Given the description of an element on the screen output the (x, y) to click on. 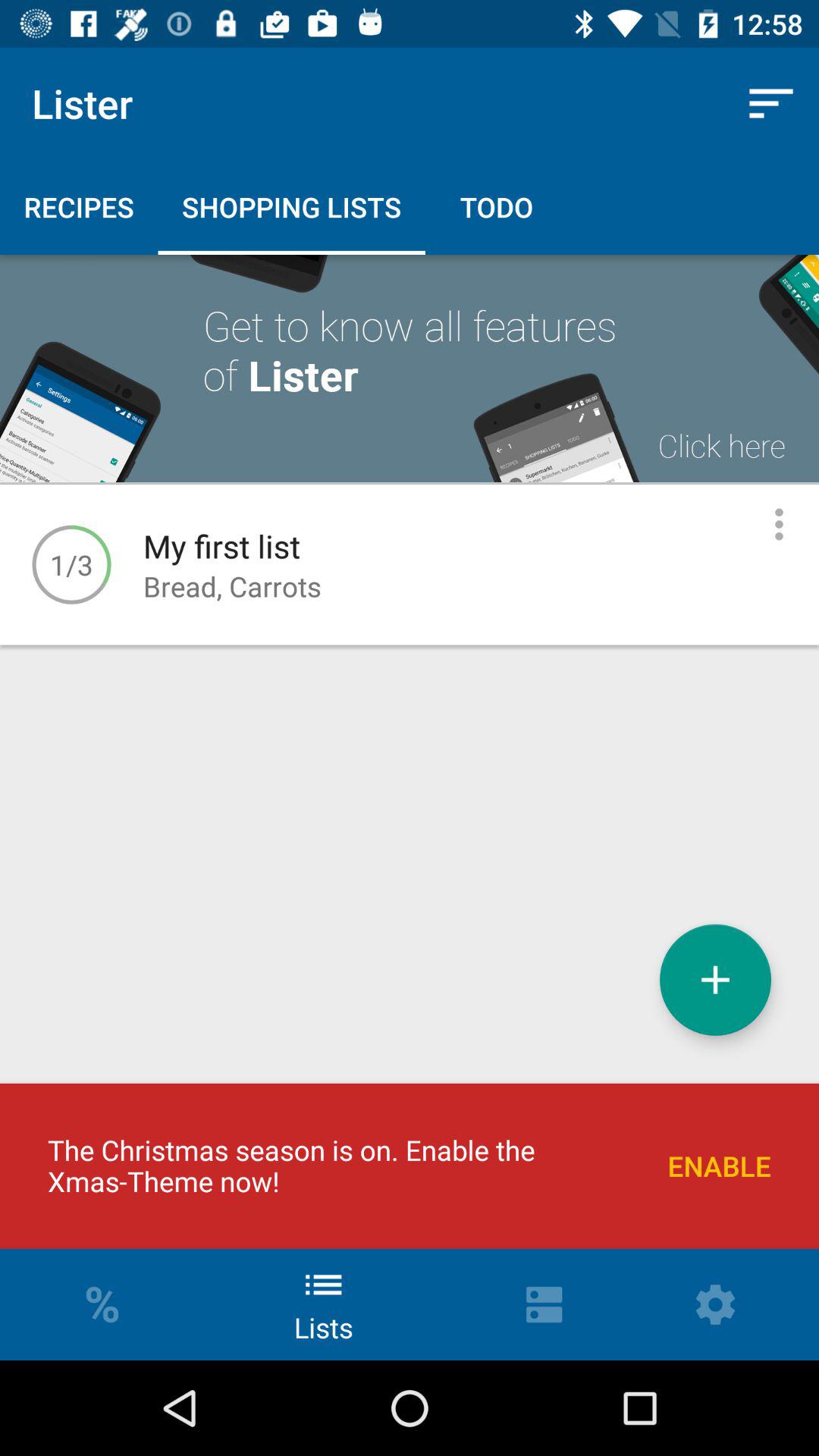
add shopping list option (715, 979)
